Given the description of an element on the screen output the (x, y) to click on. 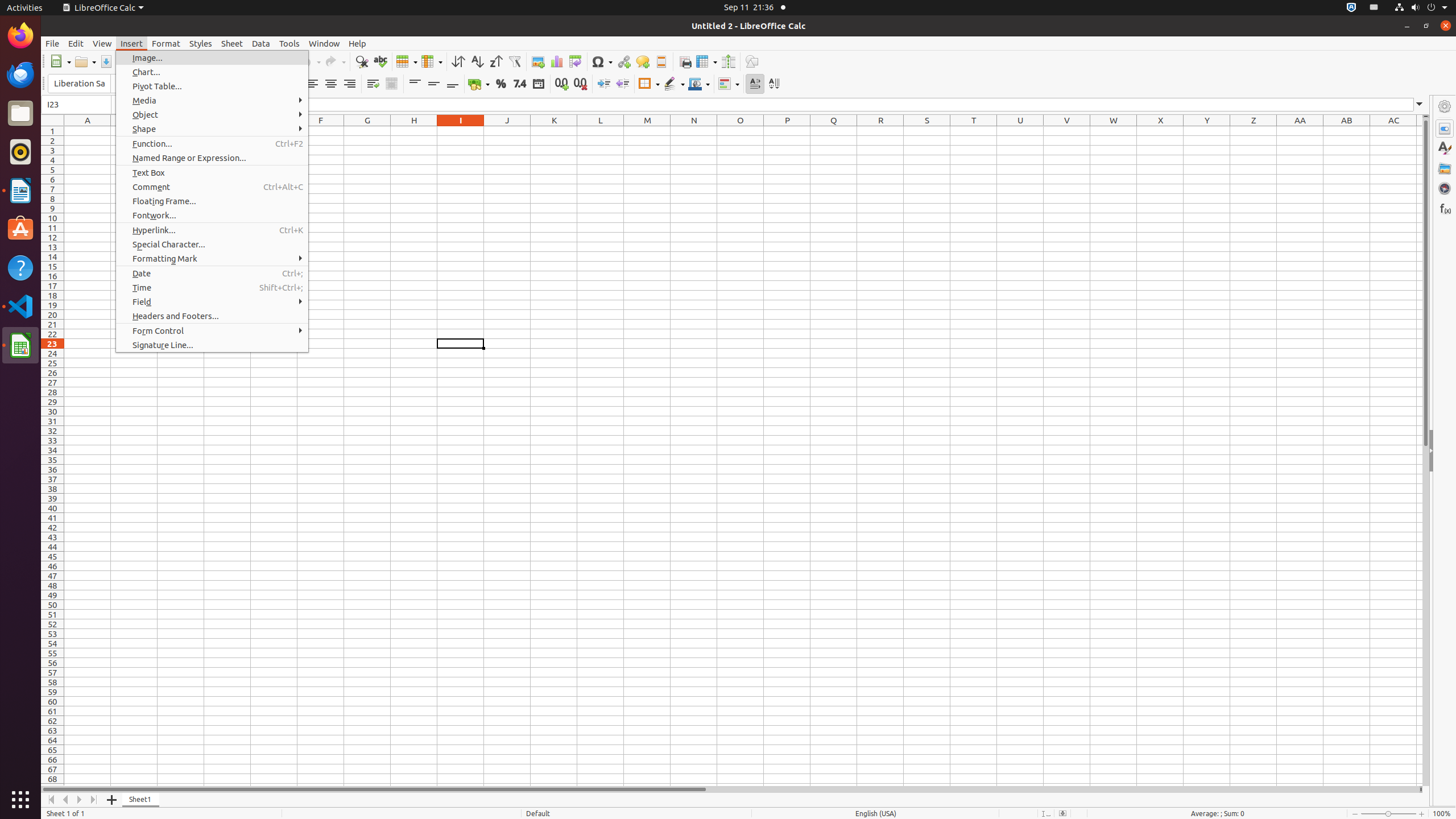
Floating Frame... Element type: menu-item (212, 200)
AB1 Element type: table-cell (1346, 130)
Properties Element type: radio-button (1444, 128)
AC1 Element type: table-cell (1393, 130)
Chart Element type: push-button (556, 61)
